Given the description of an element on the screen output the (x, y) to click on. 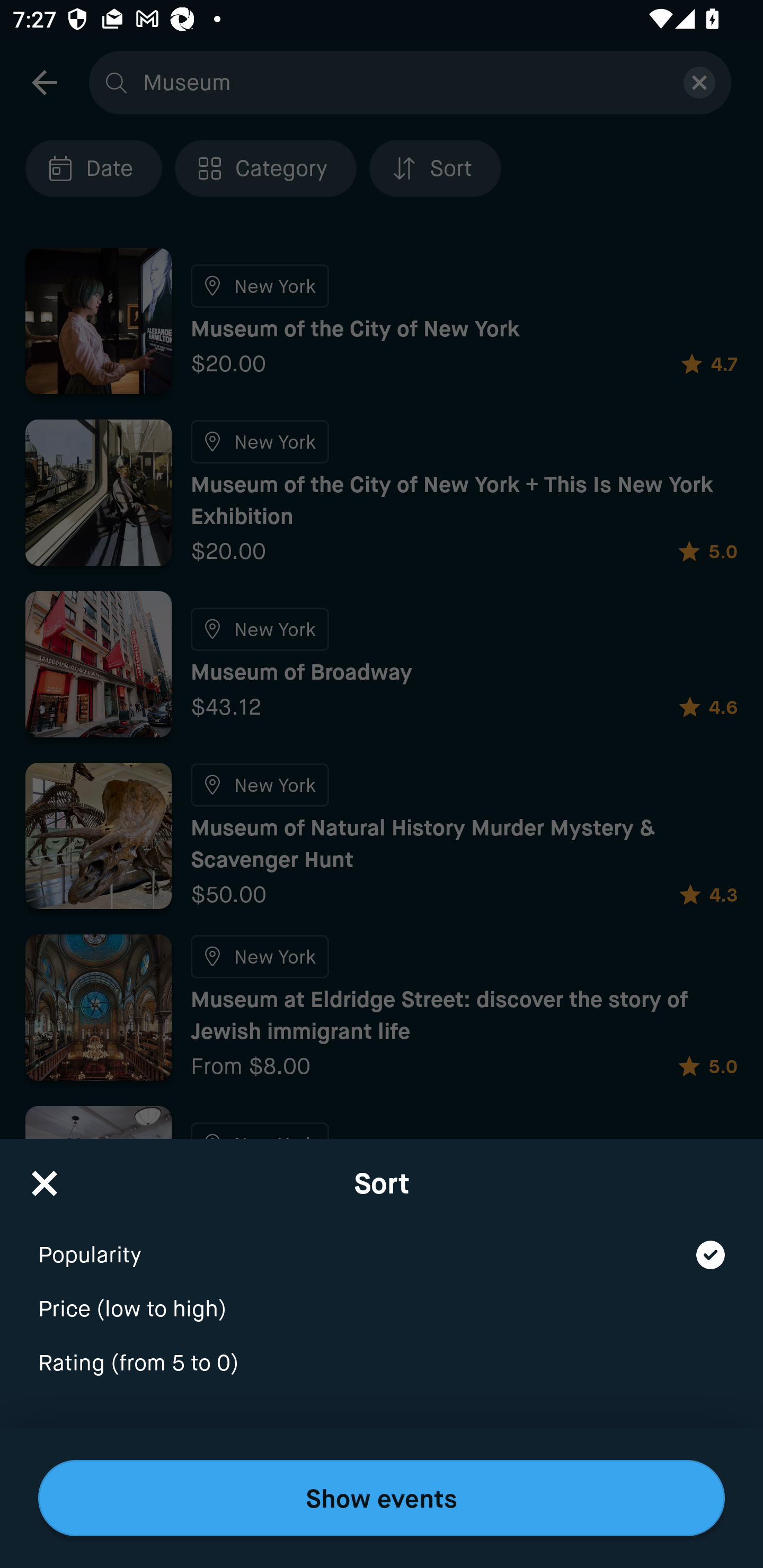
CloseButton (44, 1177)
Popularity Selected Icon (381, 1243)
Price (low to high) (381, 1297)
Rating (from 5 to 0) (381, 1362)
Show events (381, 1497)
